Given the description of an element on the screen output the (x, y) to click on. 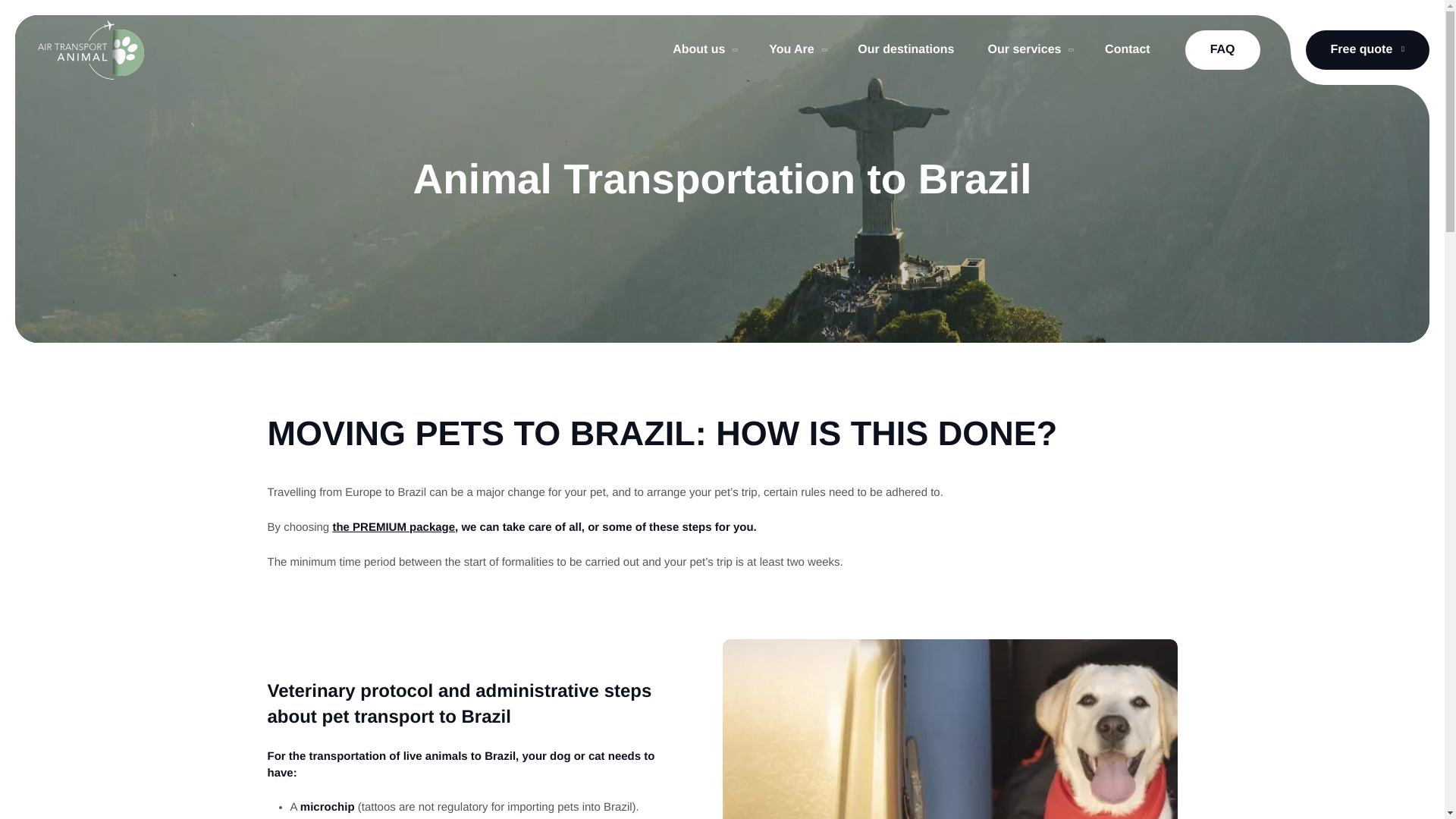
Our services (1029, 49)
the PREMIUM package (392, 526)
Free quote (1367, 49)
Our destinations (906, 49)
About us (704, 49)
FAQ (1222, 49)
You Are (796, 49)
Contact (1127, 49)
